Given the description of an element on the screen output the (x, y) to click on. 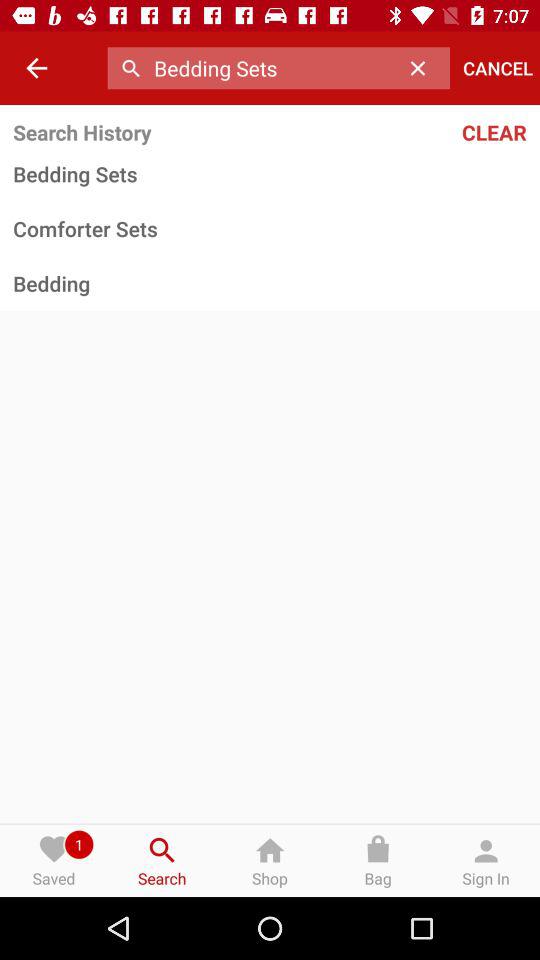
tap item above the clear (498, 68)
